Given the description of an element on the screen output the (x, y) to click on. 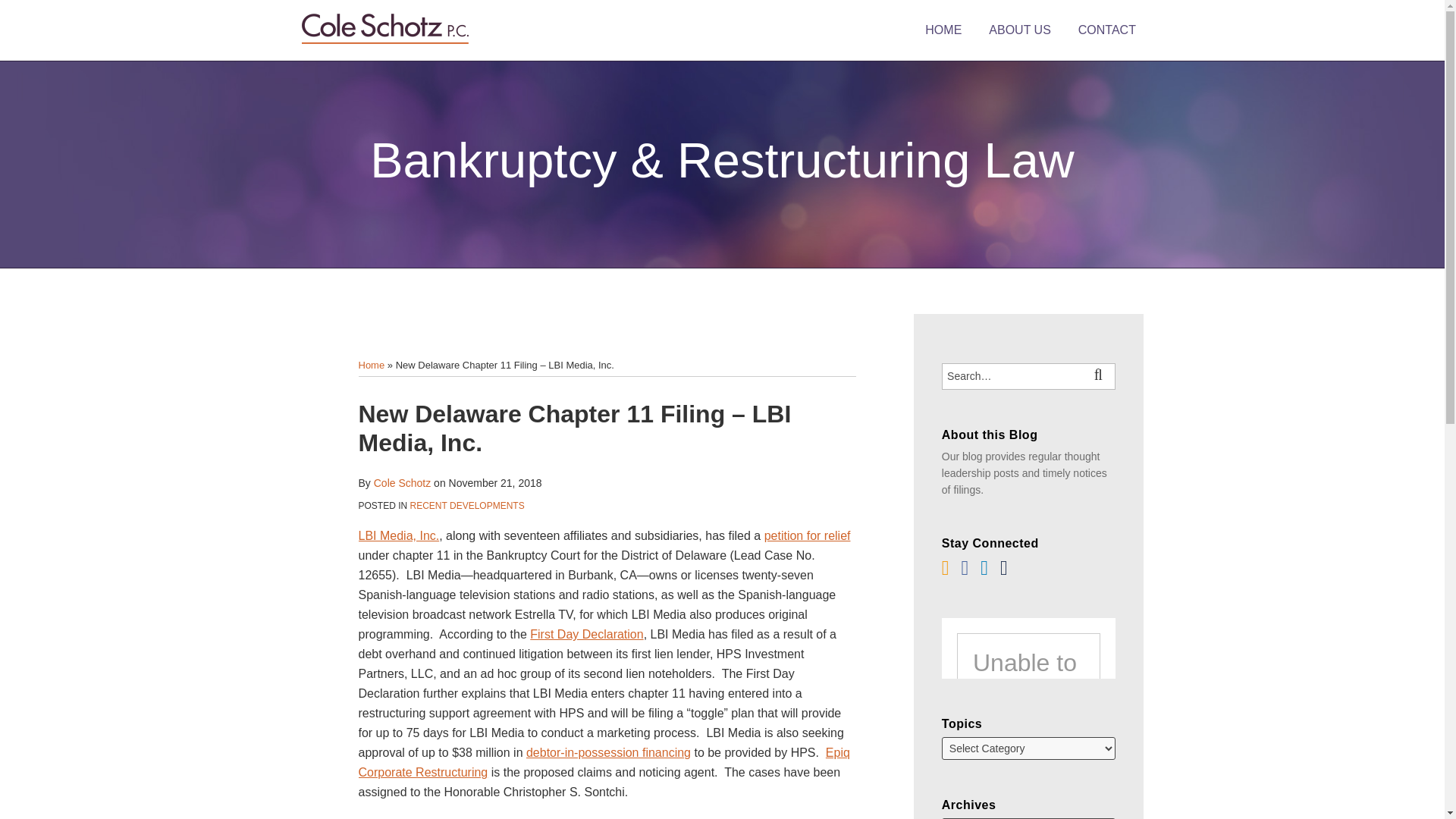
Cole Schotz (402, 482)
debtor-in-possession financing (607, 752)
SEARCH (1101, 376)
LBI Media, Inc. (398, 535)
ABOUT US (1019, 30)
RECENT DEVELOPMENTS (467, 505)
First Day Declaration (586, 634)
Epiq Corporate Restructuring (603, 762)
petition for relief (807, 535)
Home (371, 365)
CONTACT (1106, 30)
HOME (942, 30)
